Given the description of an element on the screen output the (x, y) to click on. 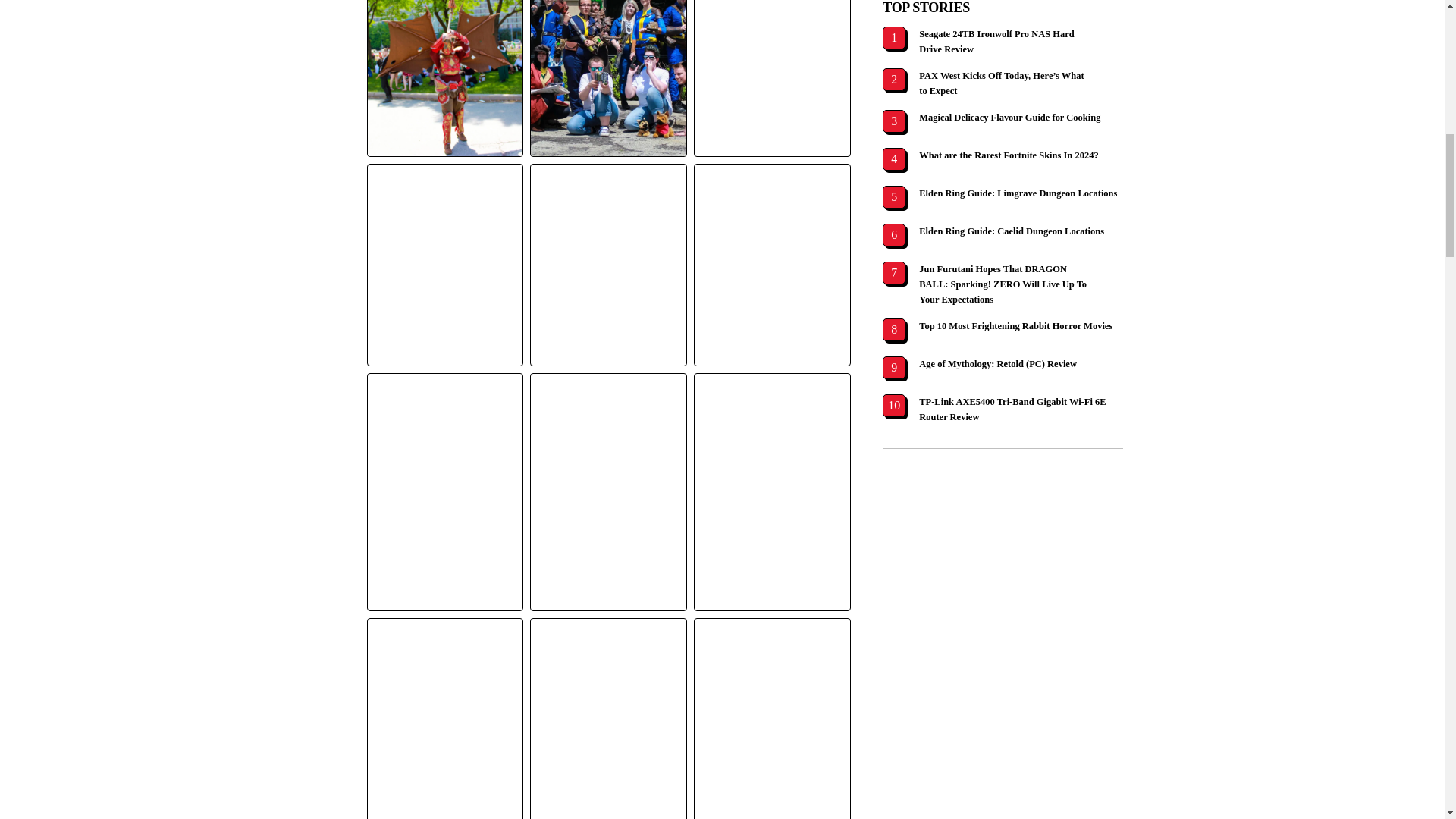
Cosplay Rules The Day At Anime North 2016 (445, 78)
Cosplay Rules The Day At Anime North 2016 (772, 78)
Cosplay Rules The Day At Anime North 2016 (608, 78)
